Given the description of an element on the screen output the (x, y) to click on. 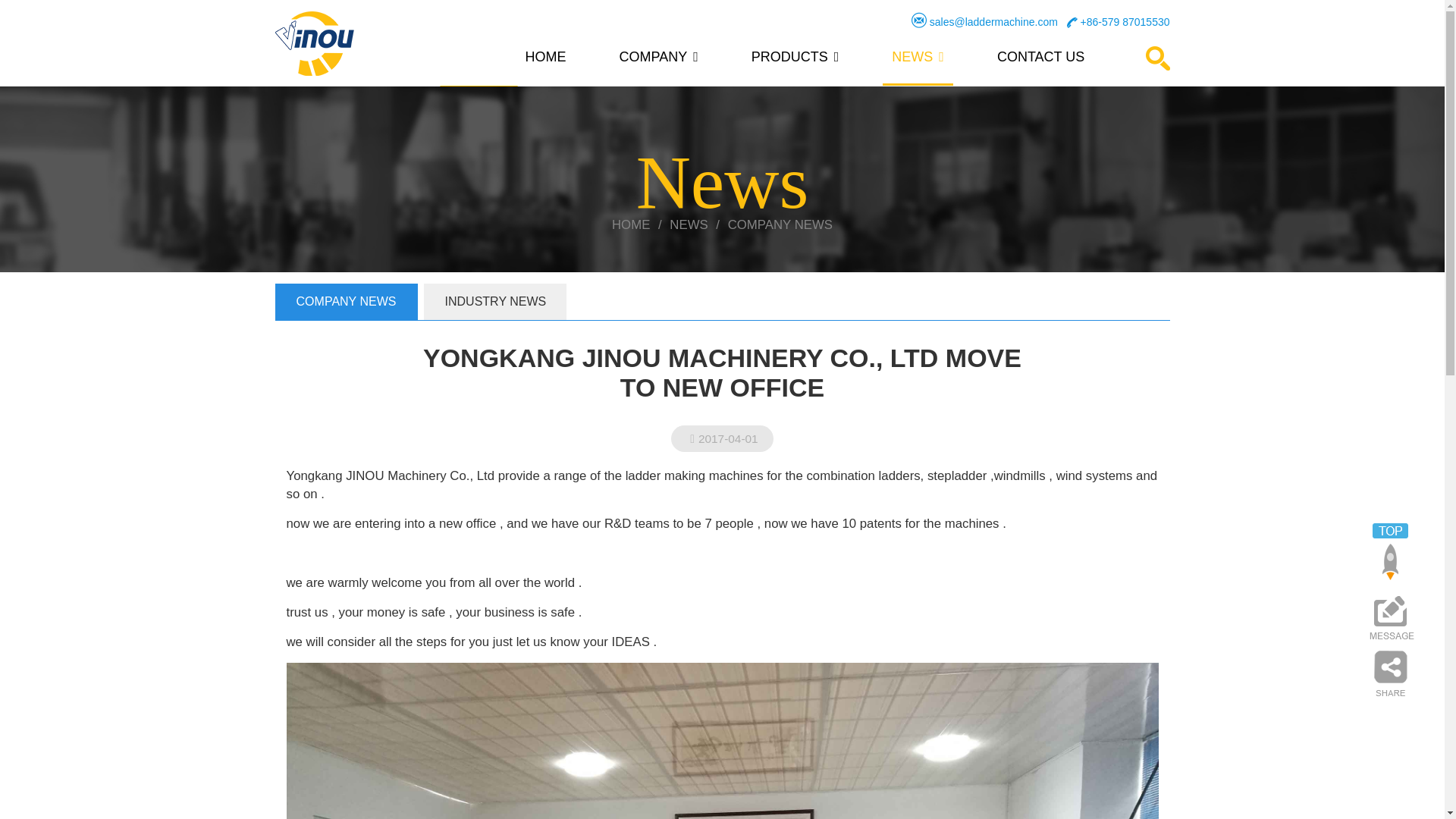
PRODUCTS (795, 60)
Yongkang Jinou Machinery Co., Ltd.  (314, 43)
NEWS (917, 60)
News (688, 224)
HOME (545, 60)
CONTACT US (1040, 60)
COMPANY (658, 60)
Click To Search For More Ladder Machine (1156, 57)
Company news (780, 224)
